Given the description of an element on the screen output the (x, y) to click on. 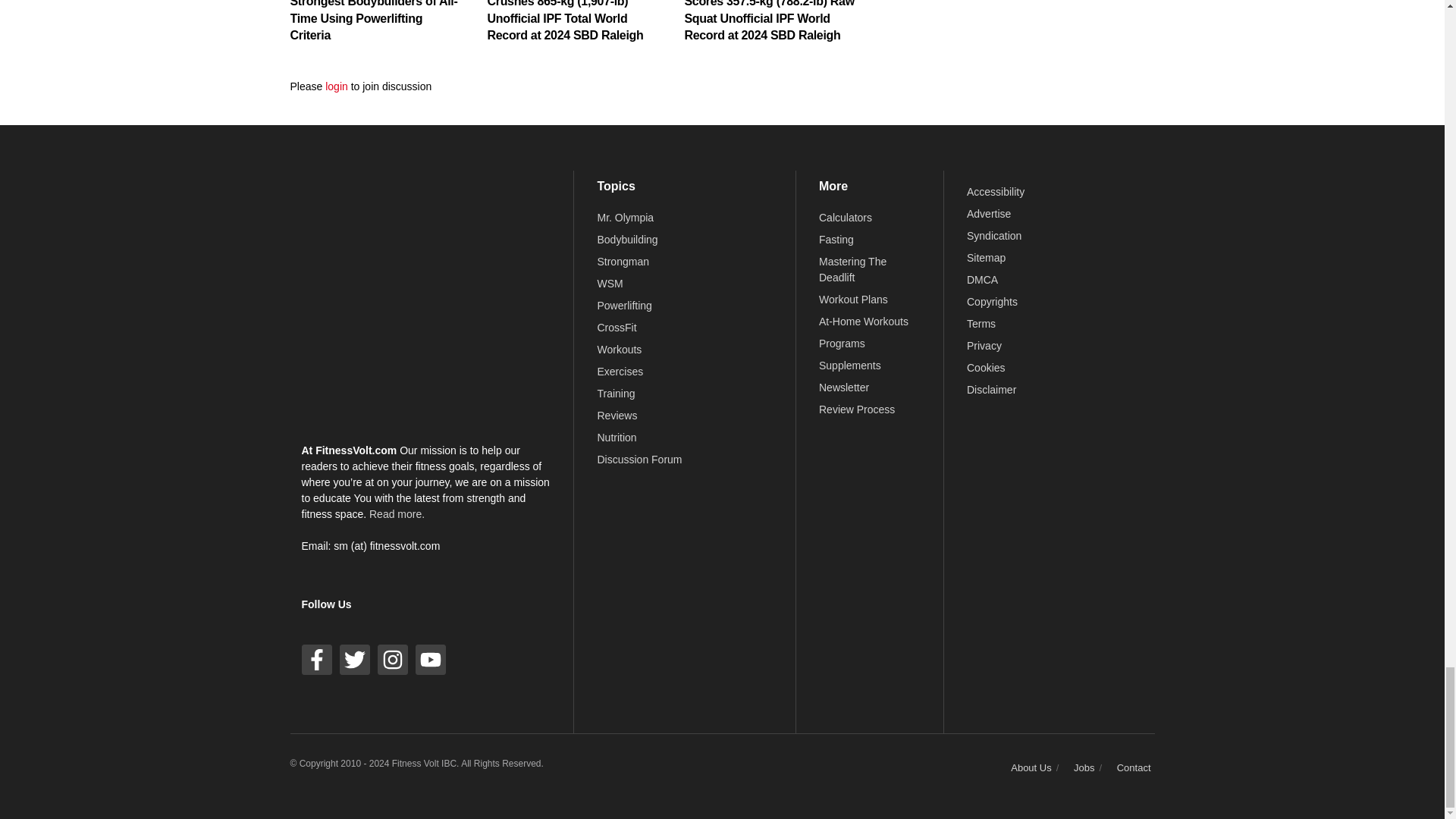
2019 Mr. Olympia News (624, 217)
Read more about Fitness Volt (397, 513)
Accessibility Conformance Status (995, 191)
